Given the description of an element on the screen output the (x, y) to click on. 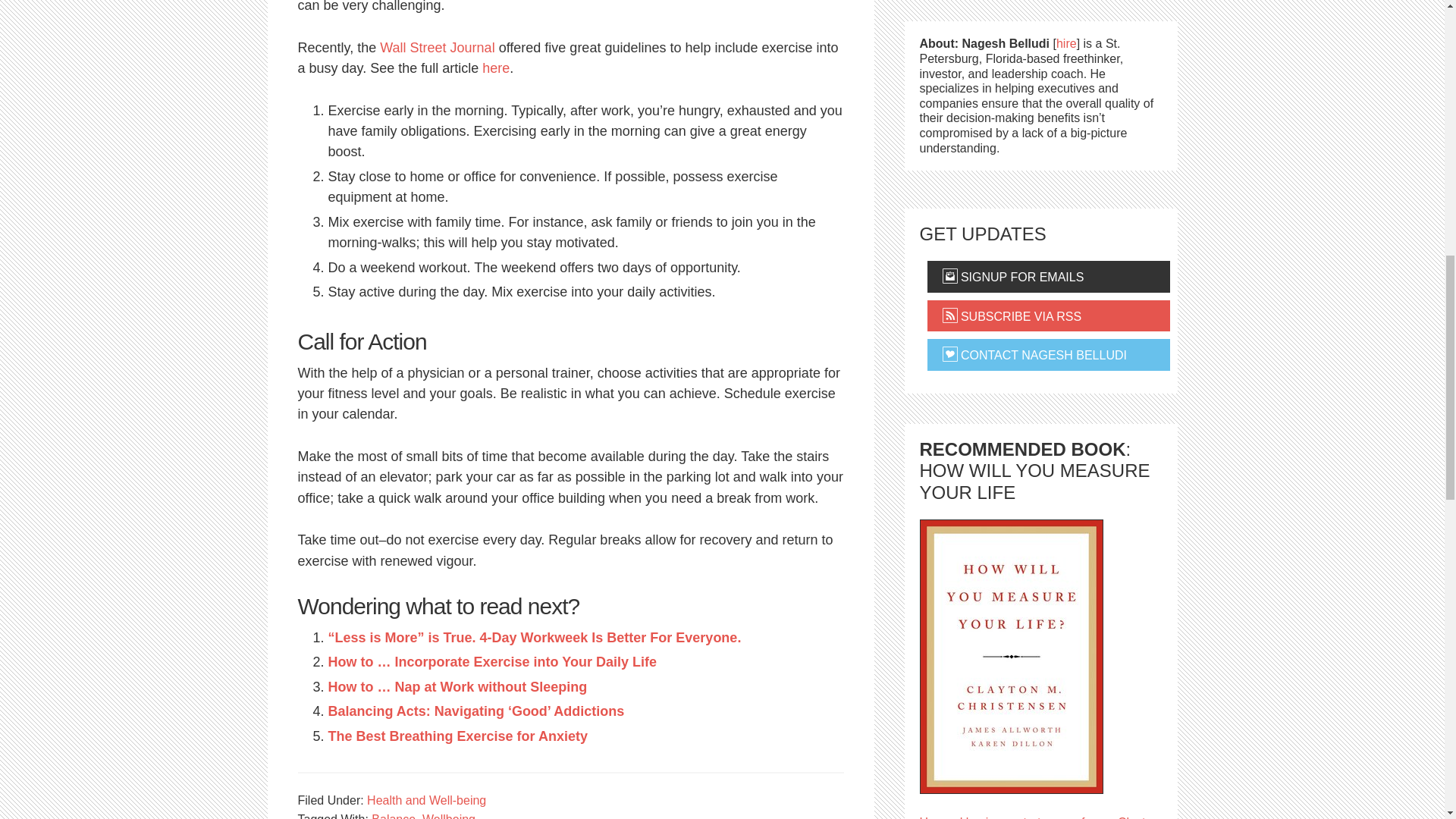
Physical Well-Being for High Performance (495, 68)
How Will You Measure Your Life: Clayton Christensen (1010, 655)
Wall Street Journal (437, 47)
Wall Street Journal (437, 47)
Wellbeing (449, 816)
How Will You Measure Your Life: Clayton Christensen (1038, 817)
Balance (392, 816)
The Best Breathing Exercise for Anxiety (456, 735)
The Best Breathing Exercise for Anxiety (456, 735)
Health and Well-being (426, 799)
